Given the description of an element on the screen output the (x, y) to click on. 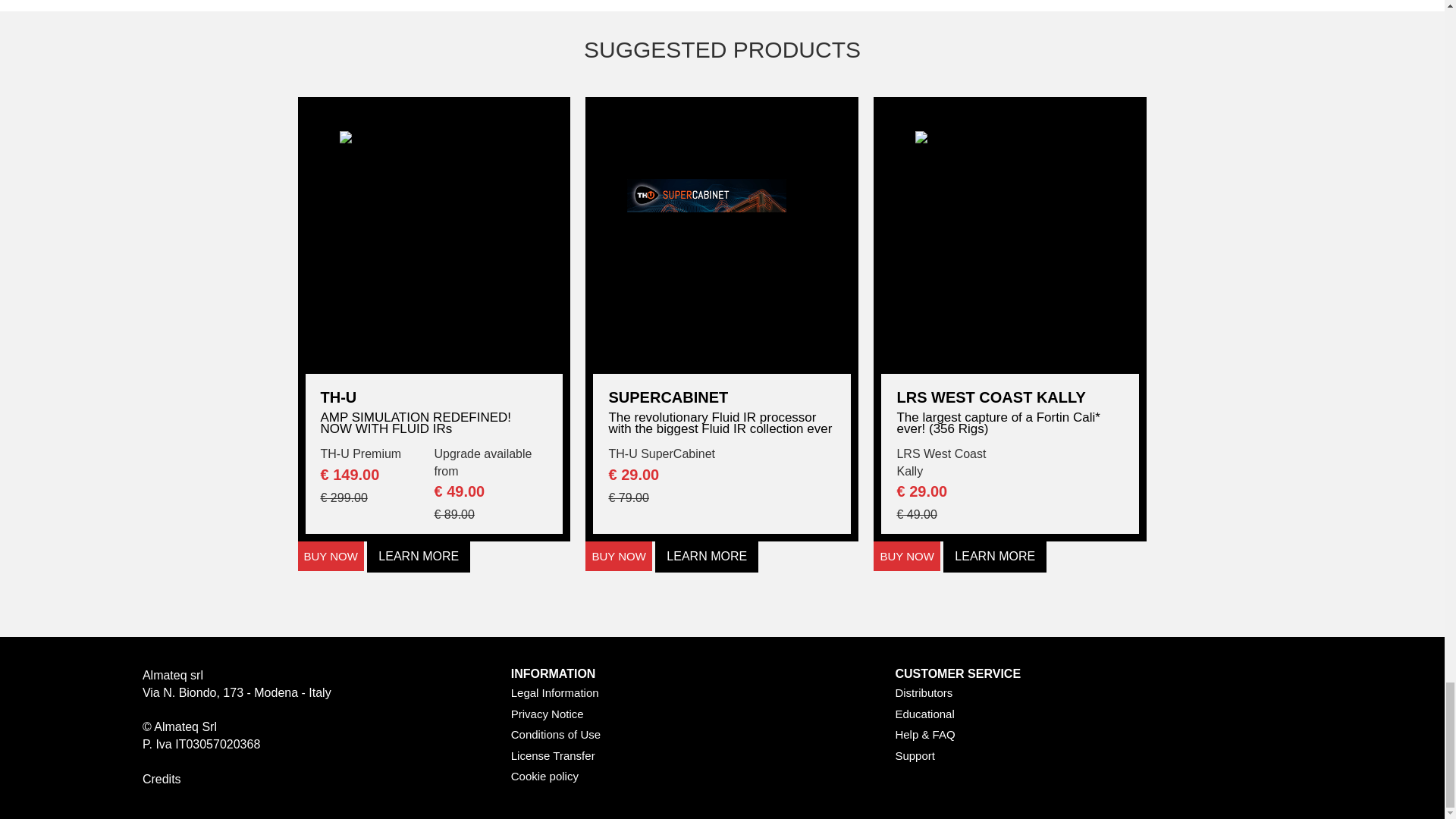
SUPERCABINET (721, 397)
BUY NOW (329, 555)
TH-U (433, 397)
LEARN MORE (418, 556)
BUY NOW (617, 555)
LEARN MORE (706, 556)
